Given the description of an element on the screen output the (x, y) to click on. 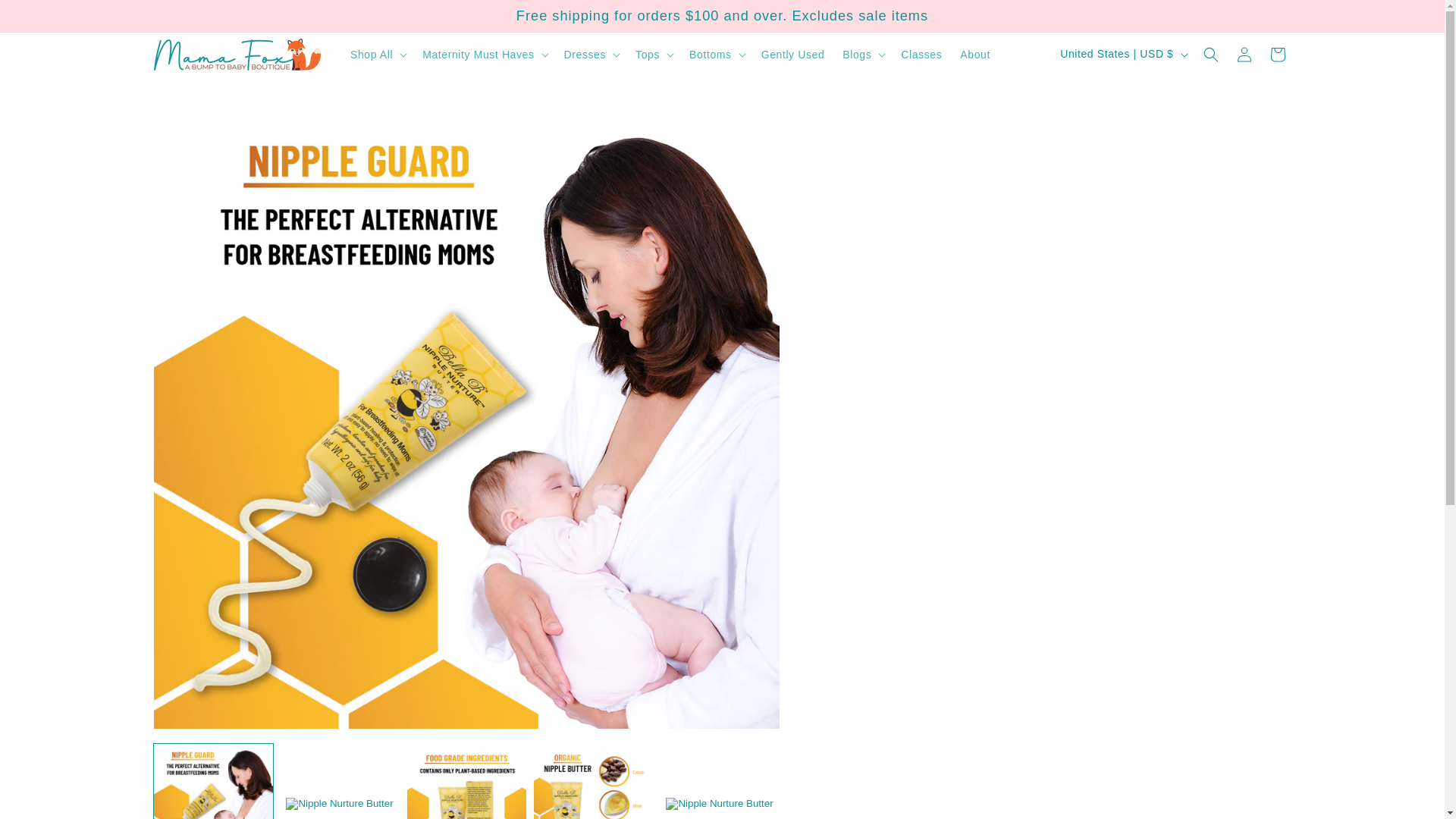
Skip to content (47, 18)
1 (870, 433)
